Given the description of an element on the screen output the (x, y) to click on. 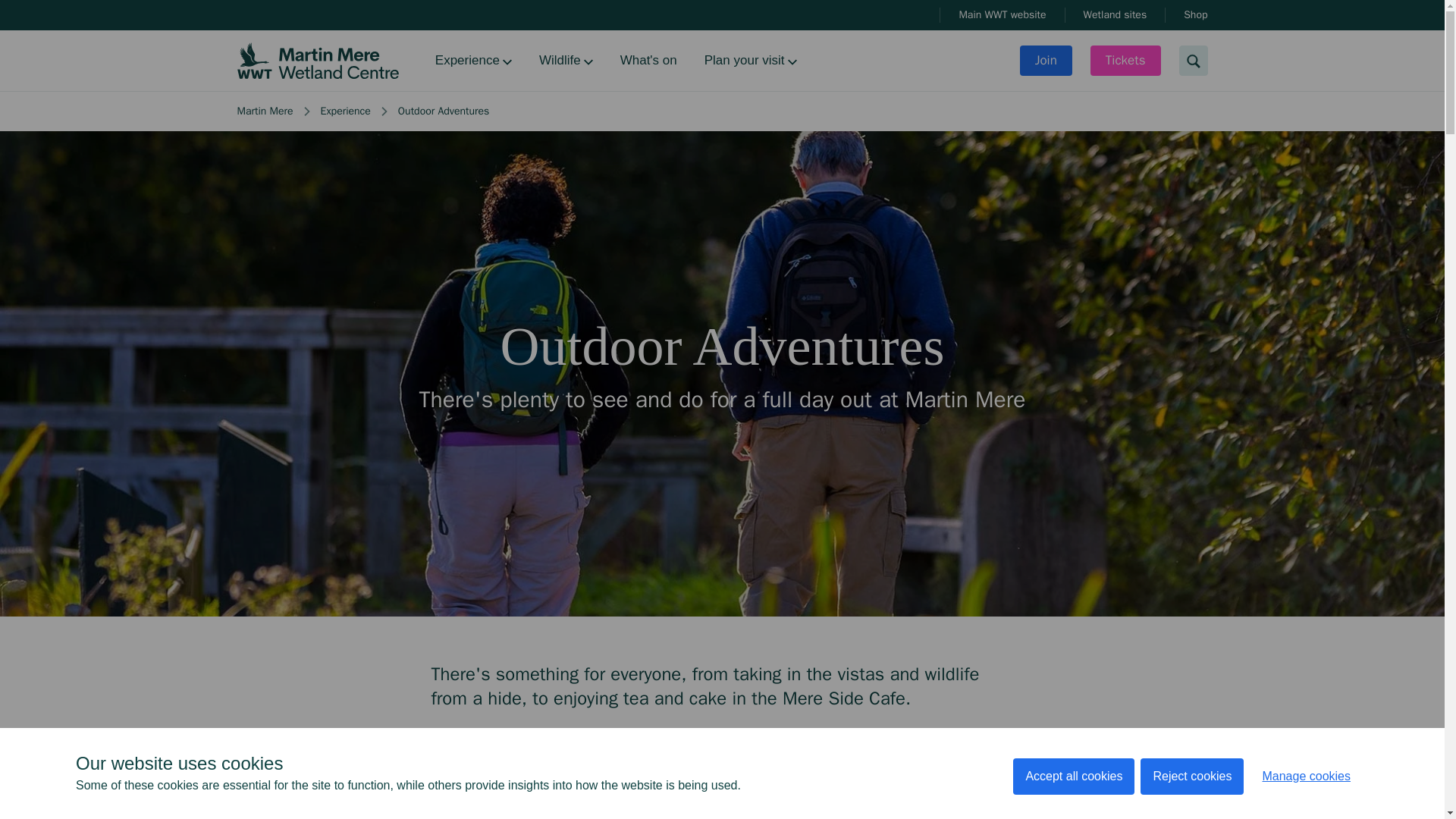
Manage cookies (1305, 809)
Experience (473, 60)
Martin Mere (263, 111)
Join (1045, 60)
Wildlife (565, 60)
Reject cookies (1191, 815)
Tickets (1125, 60)
Plan your visit (750, 60)
What's on (648, 60)
WWT Martin Mere - Outdoor Adventures (721, 787)
Shop (1195, 14)
Main WWT website (1001, 14)
Search (1192, 60)
Wetland sites (1115, 14)
